Given the description of an element on the screen output the (x, y) to click on. 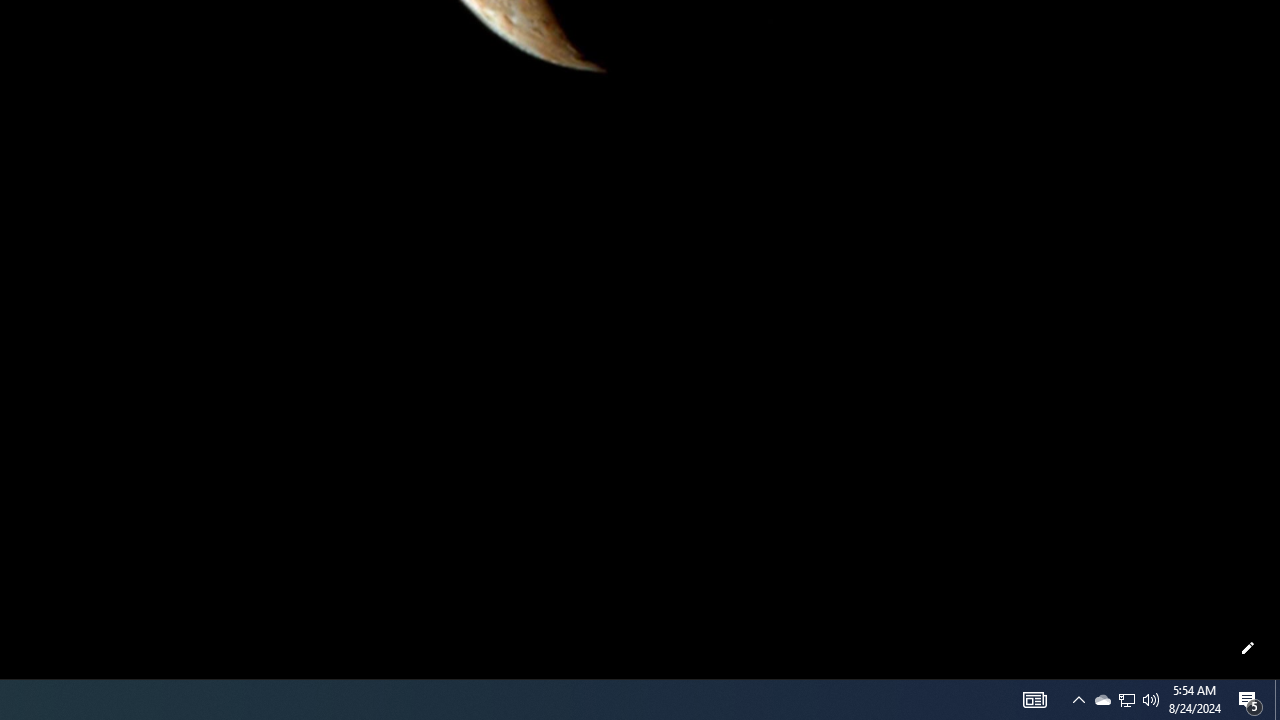
Customize this page (1247, 647)
